Given the description of an element on the screen output the (x, y) to click on. 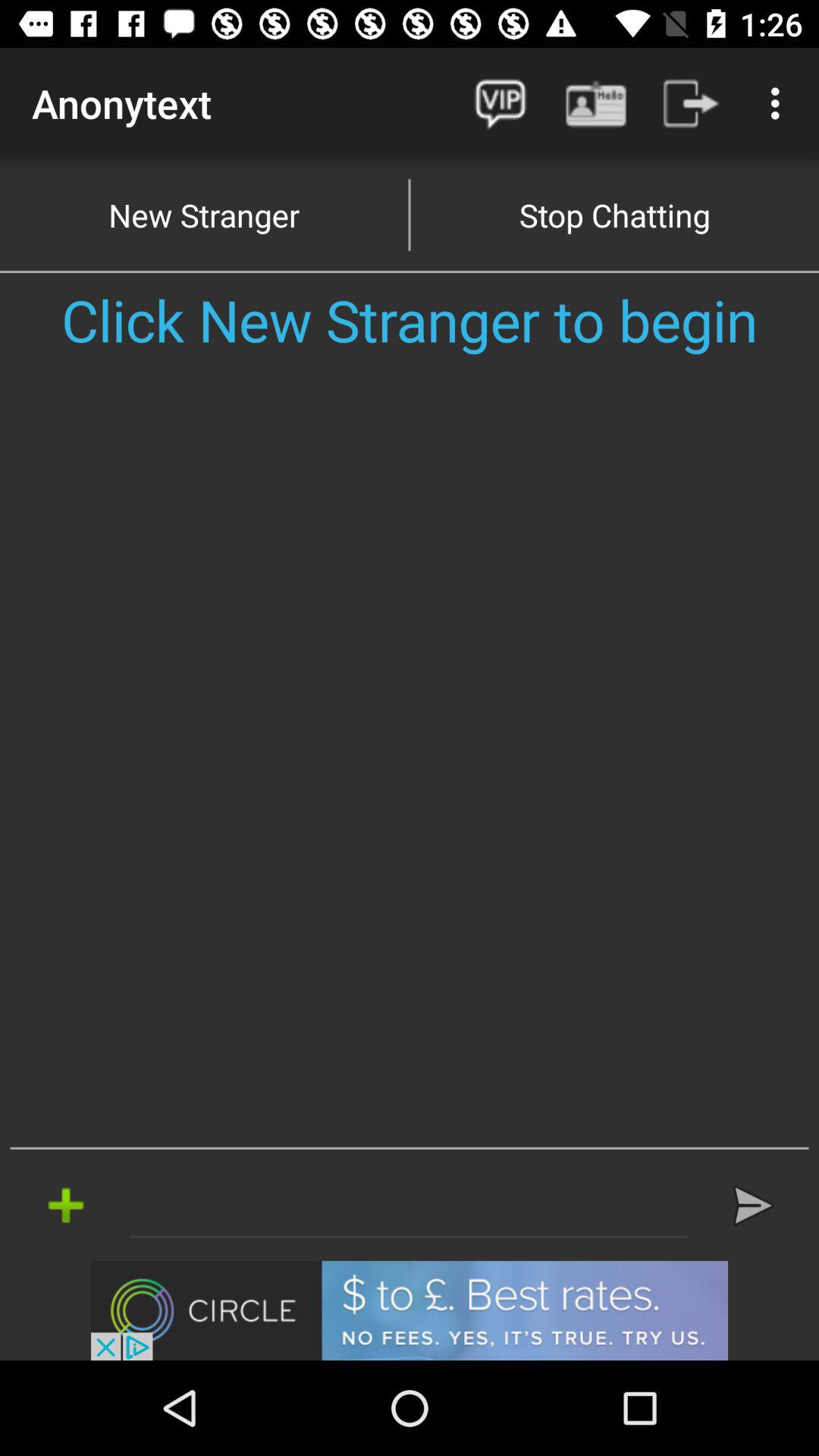
advertisement click (409, 1310)
